Given the description of an element on the screen output the (x, y) to click on. 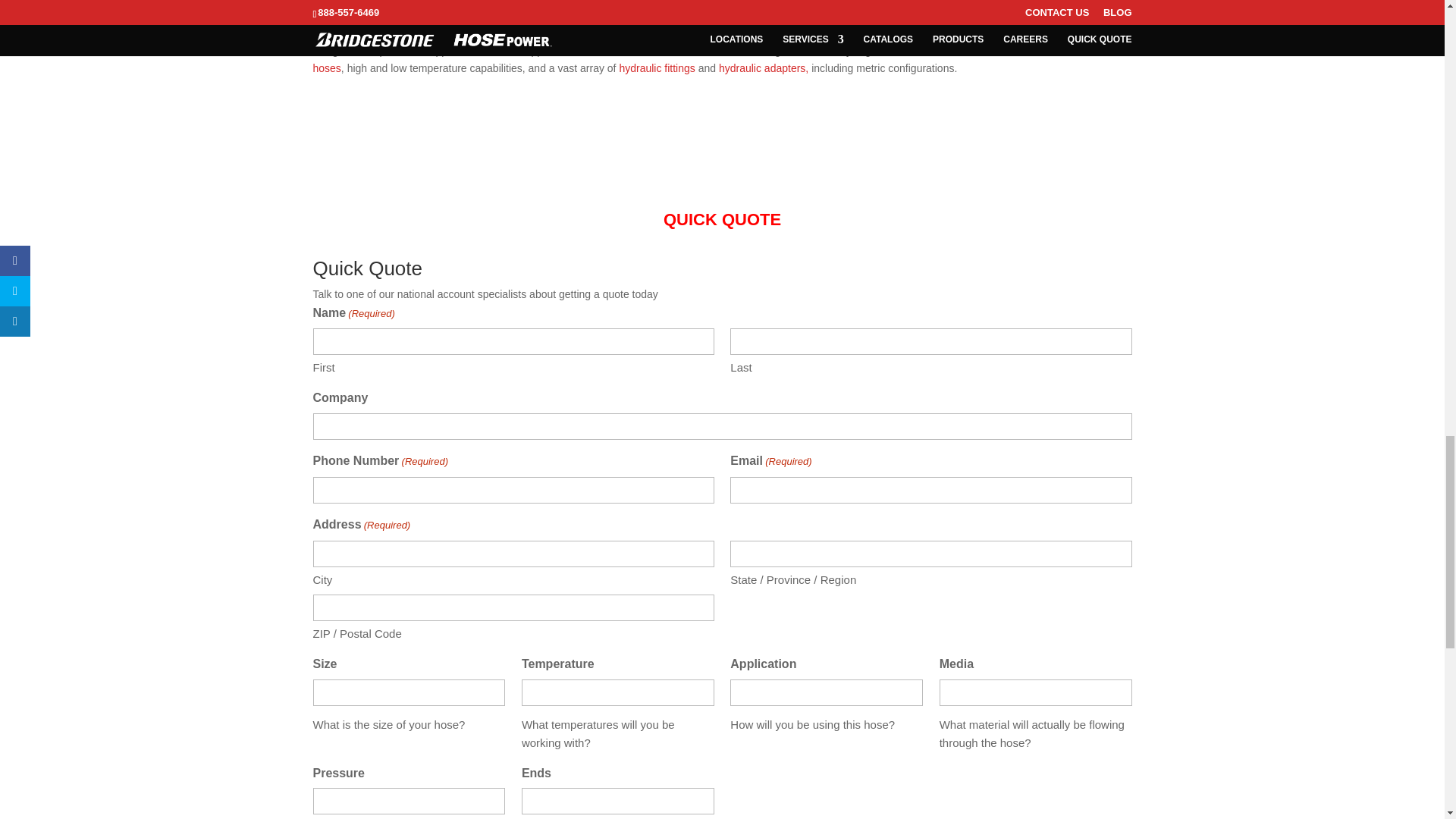
hydraulic fittings (656, 68)
hydraulic adapters,  (764, 68)
non-conductive hoses (708, 60)
